Given the description of an element on the screen output the (x, y) to click on. 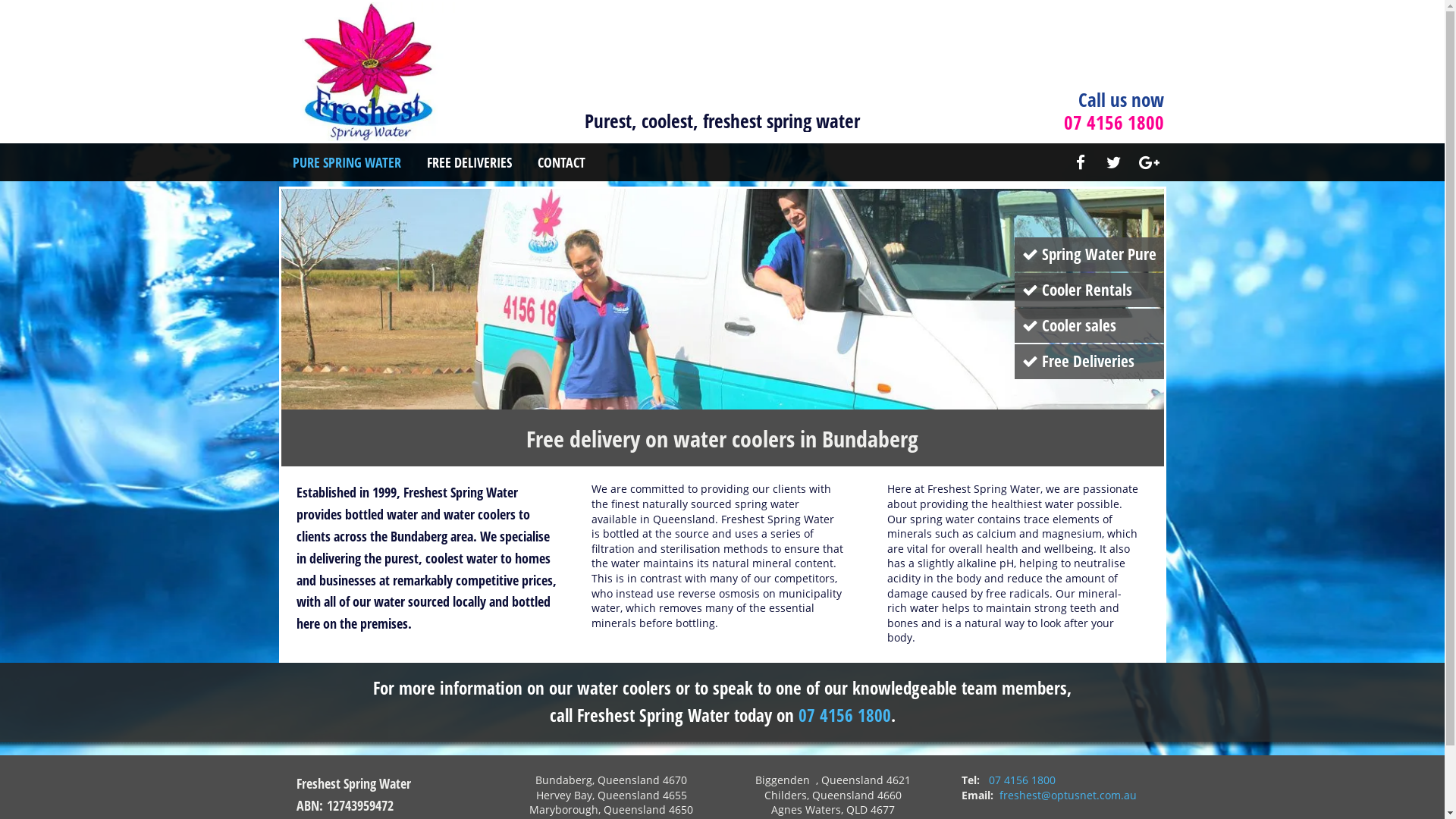
FREE DELIVERIES Element type: text (468, 162)
freshest spring water logo Element type: hover (367, 71)
freshest@optusnet.com.au Element type: text (1067, 794)
CONTACT Element type: text (560, 162)
07 4156 1800 Element type: text (843, 714)
07 4156 1800 Element type: text (1113, 121)
freshest spring water team members Element type: hover (721, 298)
07 4156 1800 Element type: text (1021, 779)
PURE SPRING WATER Element type: text (346, 162)
